Given the description of an element on the screen output the (x, y) to click on. 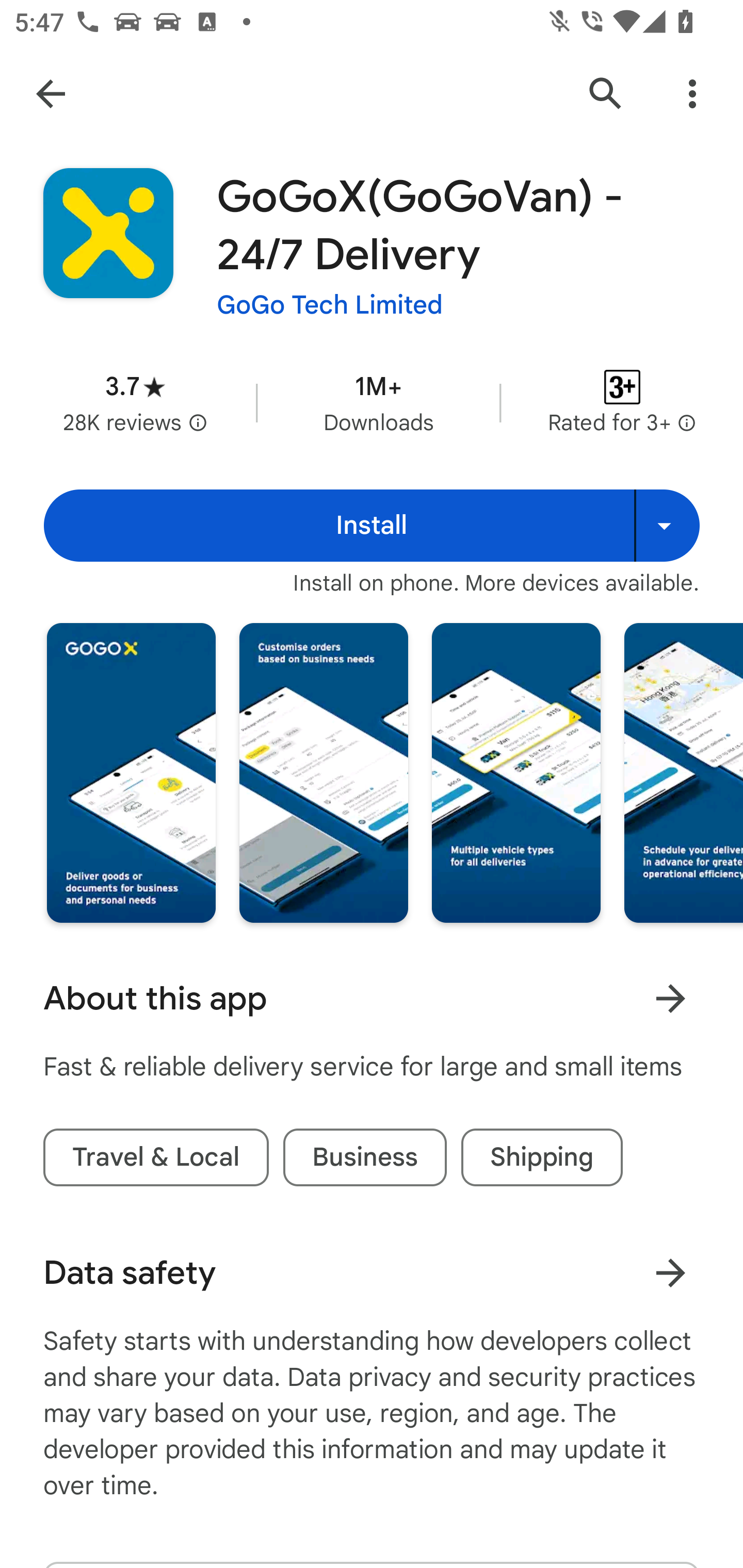
Navigate up (50, 93)
Search Google Play (605, 93)
More Options (692, 93)
GoGo Tech Limited (329, 304)
Average rating 3.7 stars in 28 thousand reviews (135, 402)
Content rating Rated for 3+ (622, 402)
Install Install Install on more devices (371, 525)
Install on more devices (667, 525)
Screenshot "1" of "6" (130, 771)
Screenshot "2" of "6" (323, 771)
Screenshot "3" of "6" (515, 771)
About this app Learn more About this app (371, 998)
Learn more About this app (670, 997)
Travel & Local tag (155, 1157)
Business tag (364, 1157)
Shipping tag (541, 1157)
Data safety Learn more about data safety (371, 1273)
Learn more about data safety (670, 1272)
